Given the description of an element on the screen output the (x, y) to click on. 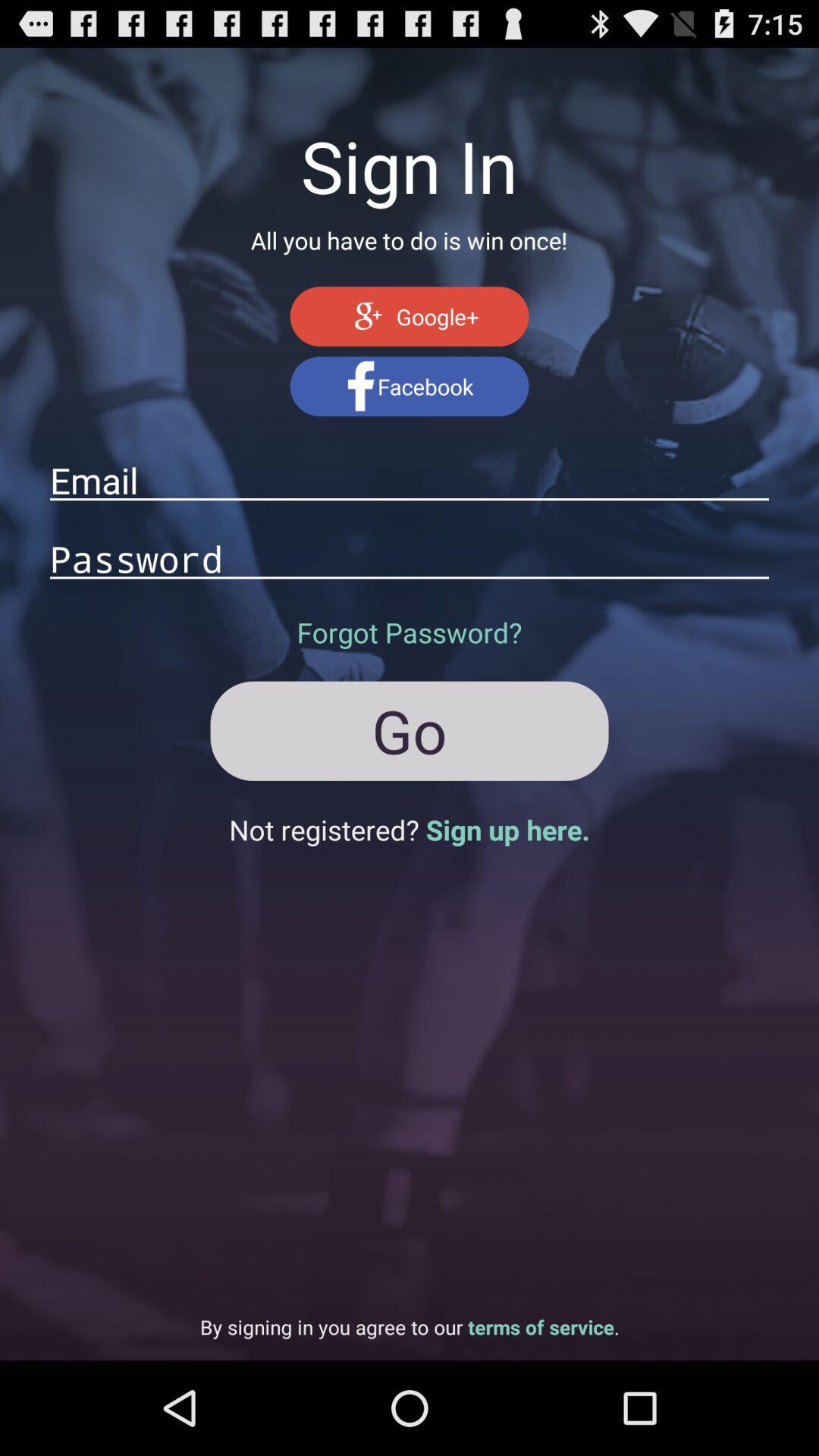
typing box (409, 558)
